Given the description of an element on the screen output the (x, y) to click on. 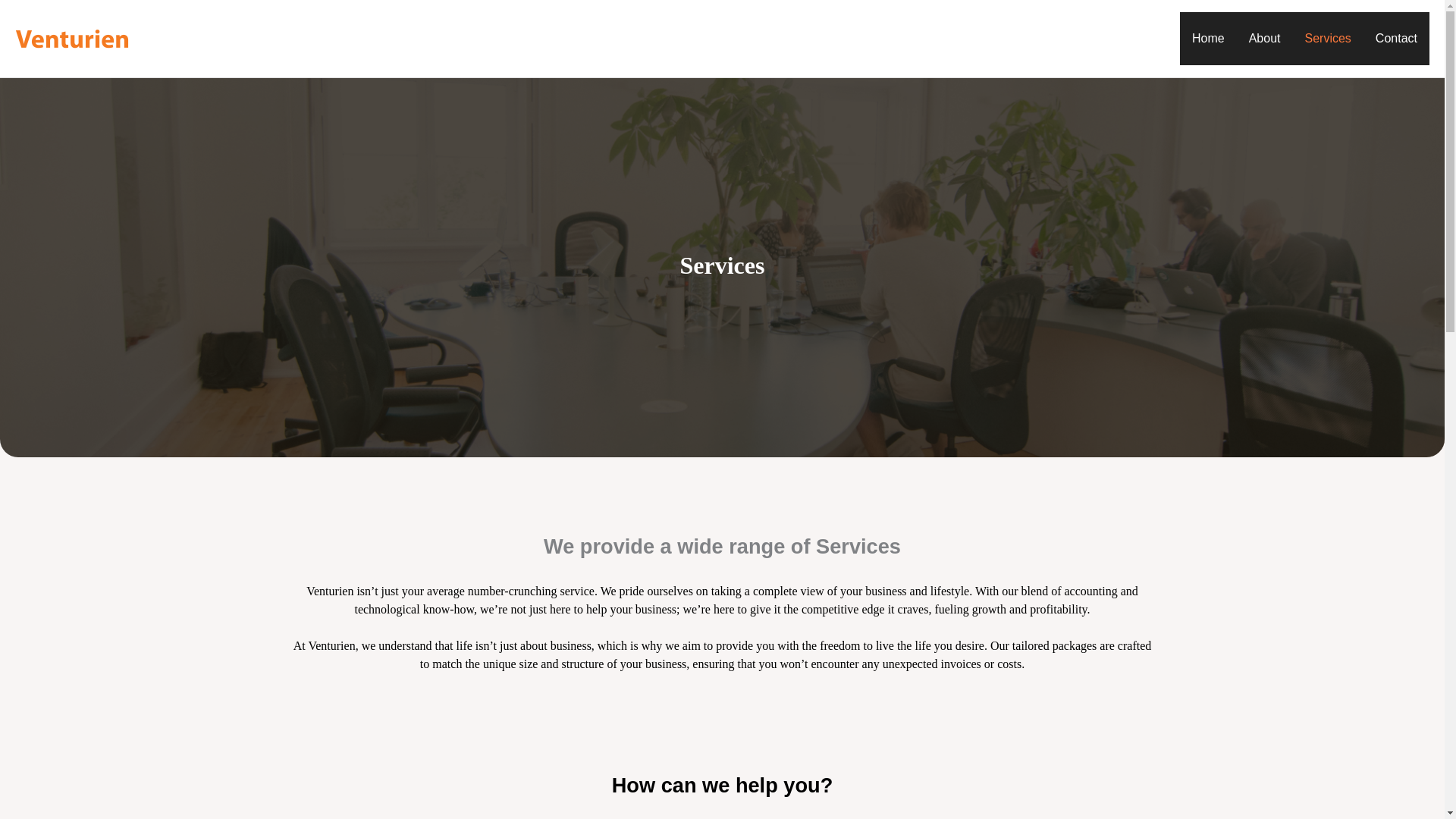
Home (1207, 38)
Services (1327, 38)
Contact (1395, 38)
About (1264, 38)
